Given the description of an element on the screen output the (x, y) to click on. 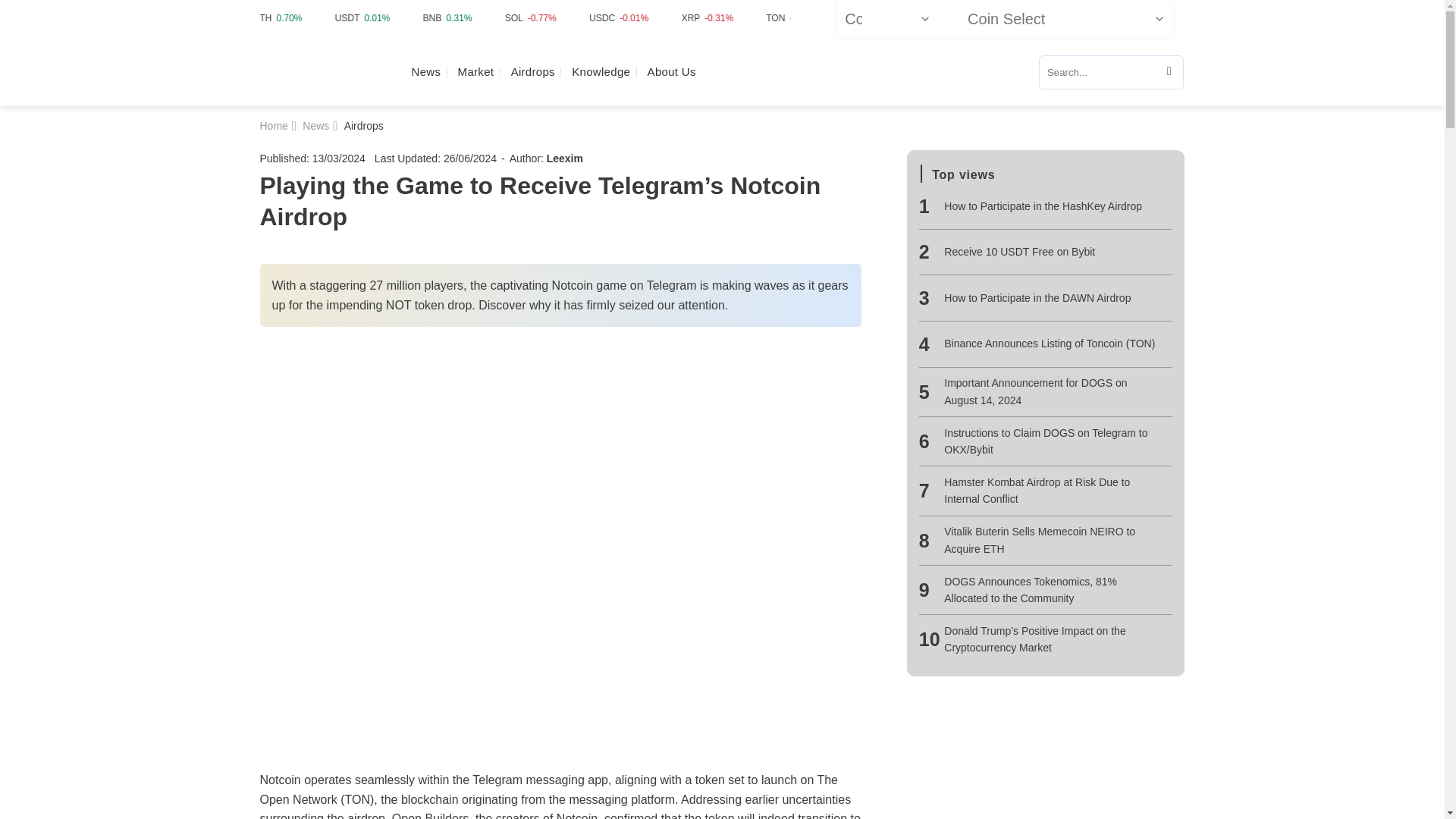
Leexim (565, 157)
Home (272, 125)
Airdrops (363, 125)
Airdrops (532, 71)
Market (476, 71)
News (425, 71)
About Us (671, 71)
News (315, 125)
AZC.News - Cryptocurrency News Daily (323, 72)
